Given the description of an element on the screen output the (x, y) to click on. 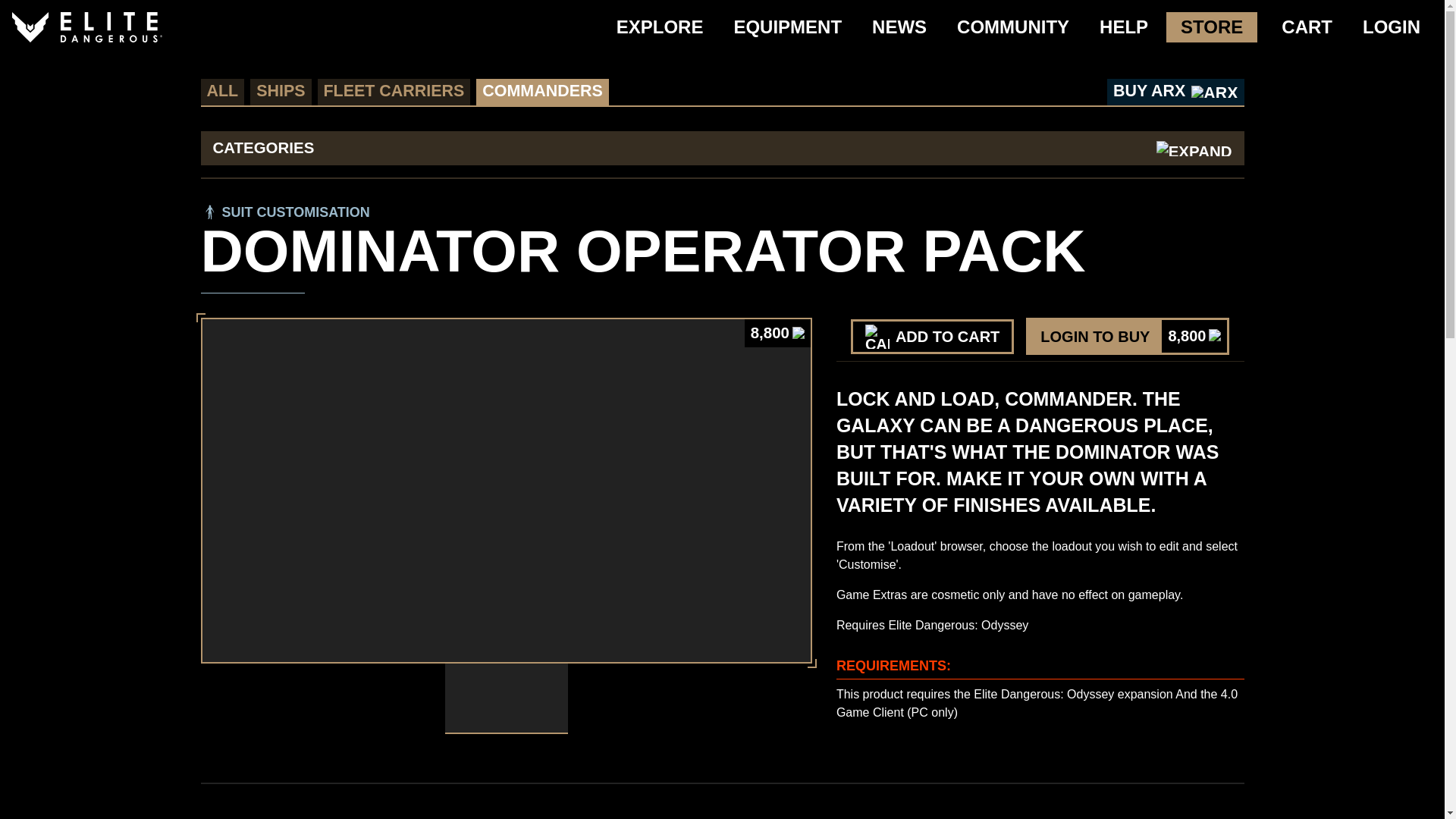
STORE (1127, 335)
COMMANDERS (1211, 27)
COMMUNITY (542, 91)
CART (1012, 27)
HELP (1303, 27)
LOGIN (1123, 27)
ADD TO CART (1391, 27)
SHIPS (931, 336)
NEWS (280, 91)
